Given the description of an element on the screen output the (x, y) to click on. 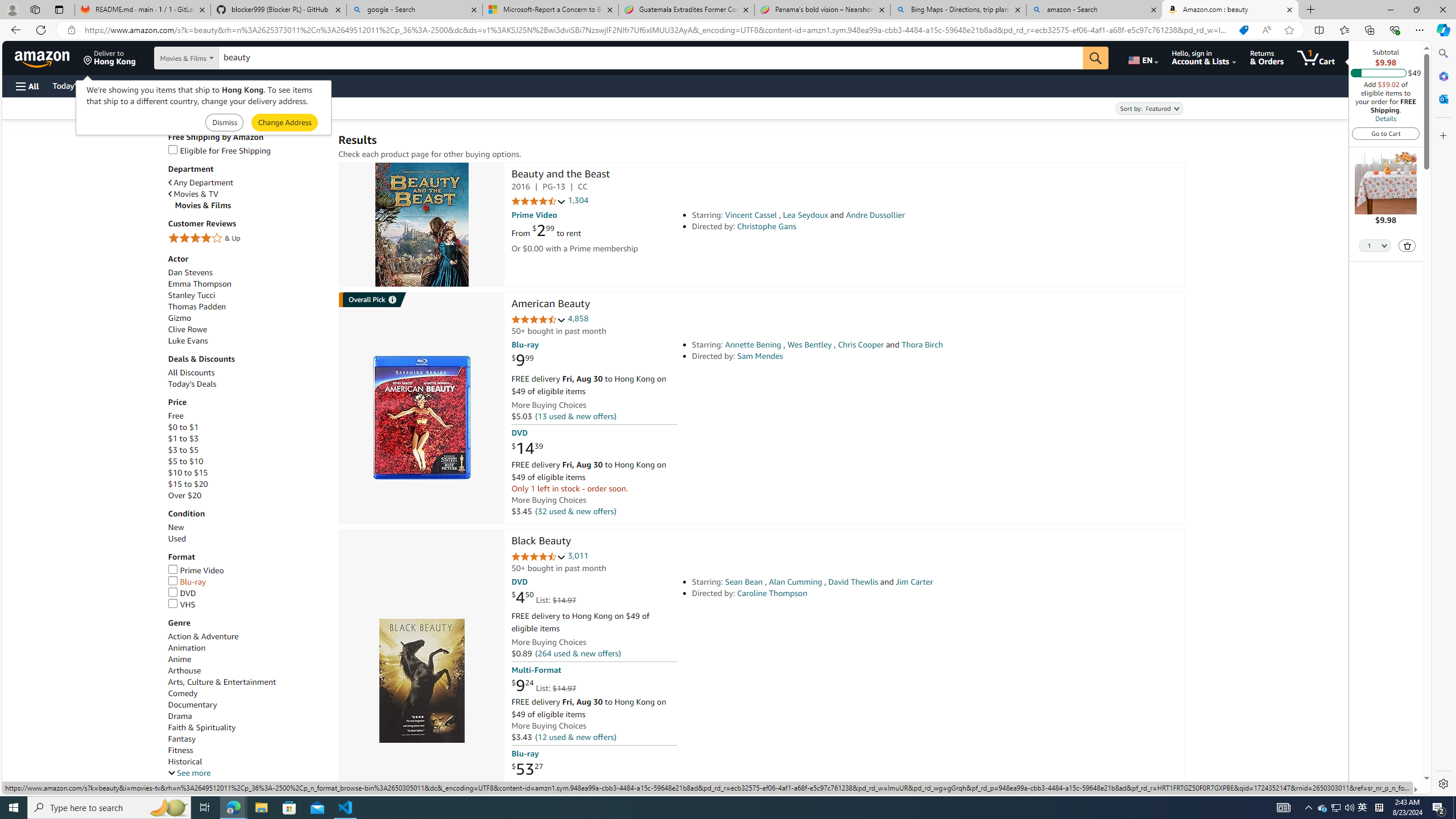
Directed by: Sam Mendes (850, 355)
Submit (284, 122)
Luke Evans (187, 340)
Movies & Films (250, 205)
Any Department (247, 182)
David Thewlis (852, 581)
Faith & Spirituality (201, 727)
Thora Birch (922, 344)
Black Beauty (421, 681)
4.7 out of 5 stars (538, 557)
Comedy (247, 693)
Fitness (247, 750)
